Given the description of an element on the screen output the (x, y) to click on. 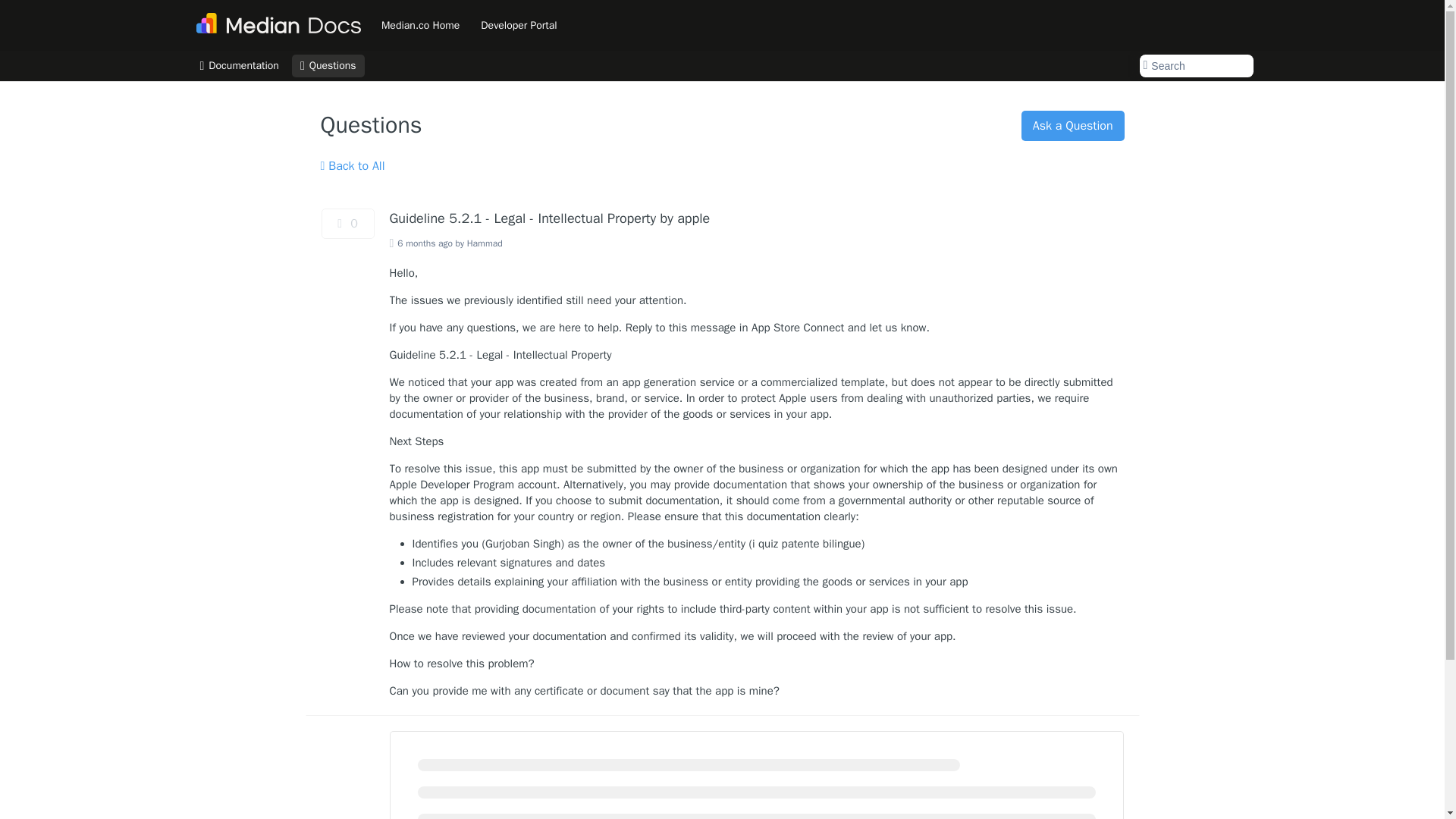
Documentation (238, 65)
Ask a Question (1073, 125)
Median.co Home (419, 24)
Questions (328, 65)
Search (1195, 65)
Developer Portal (517, 24)
Back to All (352, 165)
0 (347, 223)
